Given the description of an element on the screen output the (x, y) to click on. 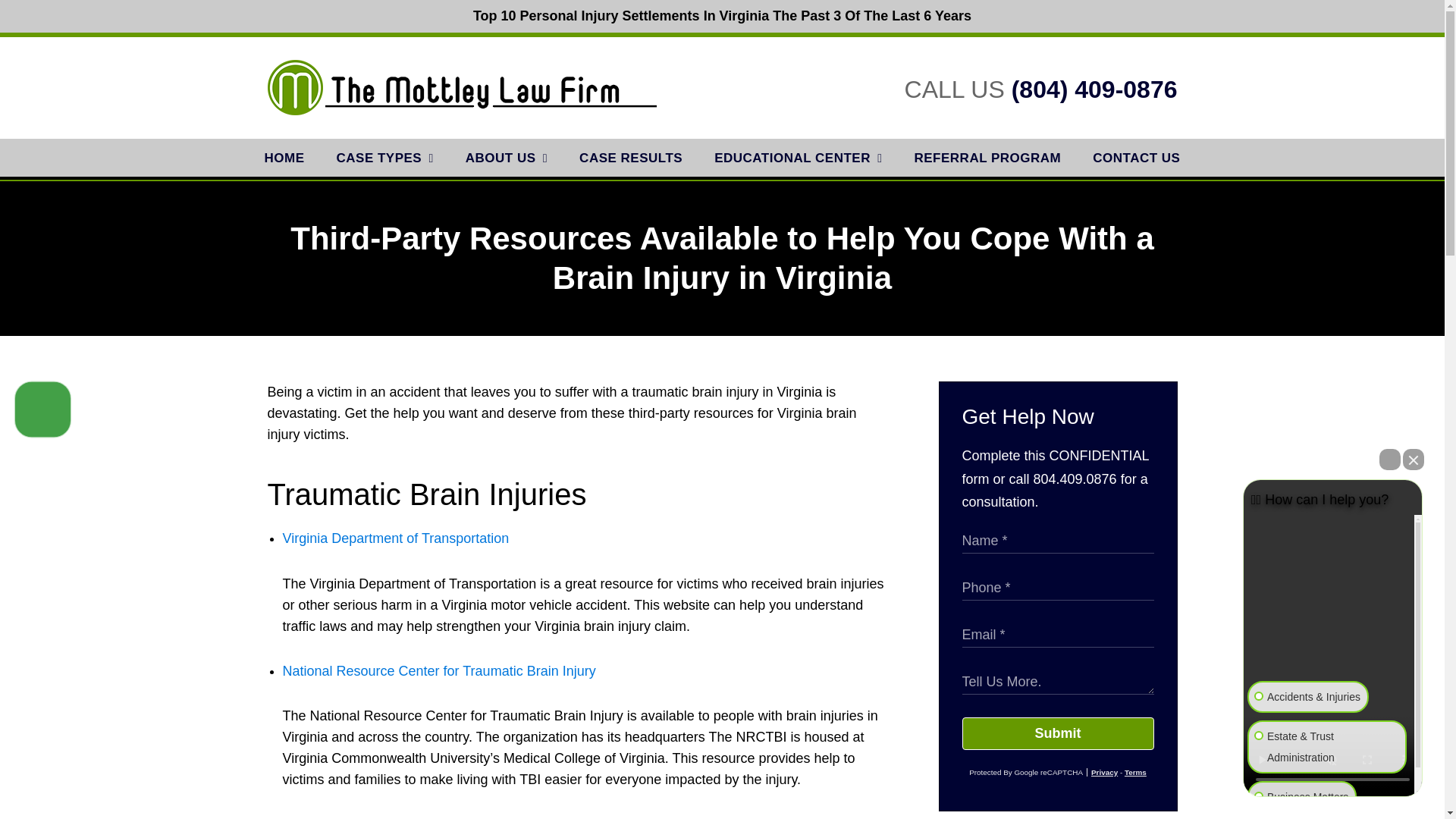
CASE TYPES (384, 157)
HOME (284, 157)
